Given the description of an element on the screen output the (x, y) to click on. 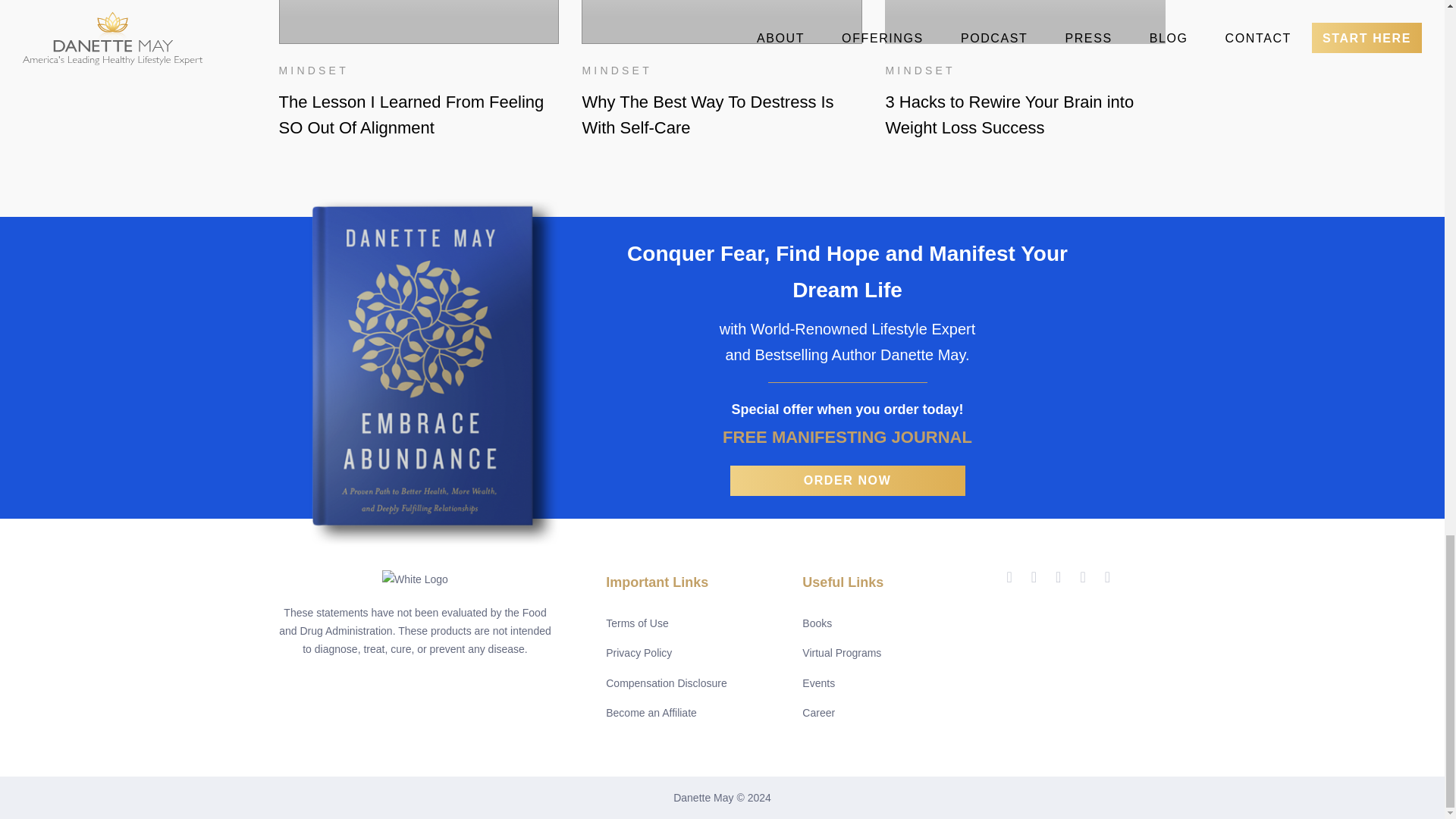
MINDSET (920, 70)
ORDER NOW (846, 481)
Compensation Disclosure (665, 683)
MINDSET (314, 70)
Why The Best Way To Destress Is With Self-Care (720, 114)
The Lesson I Learned From Feeling SO Out Of Alignment (419, 114)
MINDSET (615, 70)
Terms of Use (636, 623)
Privacy Policy (638, 652)
3 Hacks to Rewire Your Brain into Weight Loss Success (1025, 114)
